Given the description of an element on the screen output the (x, y) to click on. 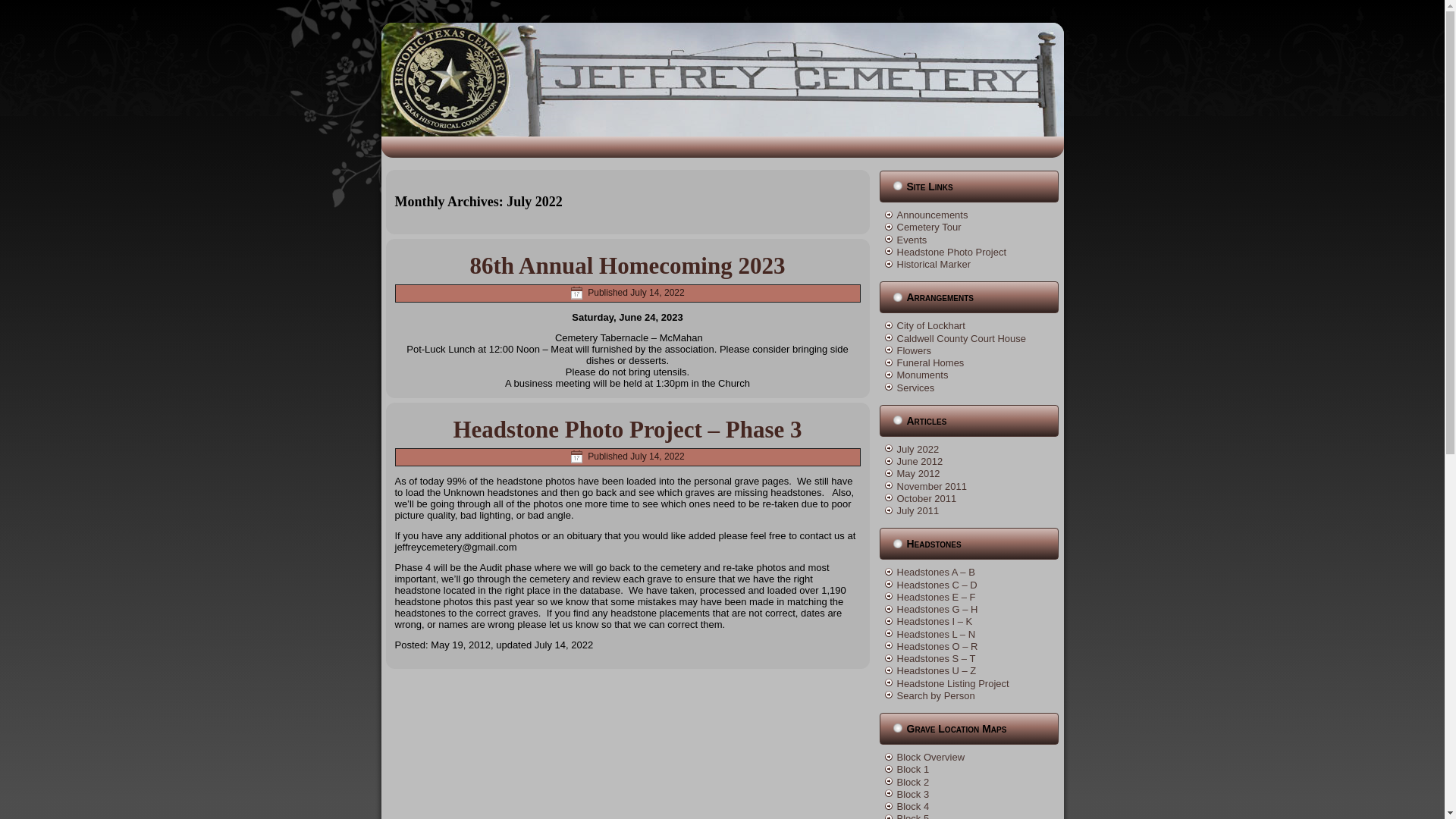
Search by Person (935, 695)
Block 1 (912, 768)
October 2011 (926, 498)
Announcements (932, 214)
12:19 am (657, 456)
Block 2 (912, 781)
Headstone Listing Project (952, 683)
Historical Marker (933, 264)
Block Overview (929, 756)
July 2022 (917, 449)
